Given the description of an element on the screen output the (x, y) to click on. 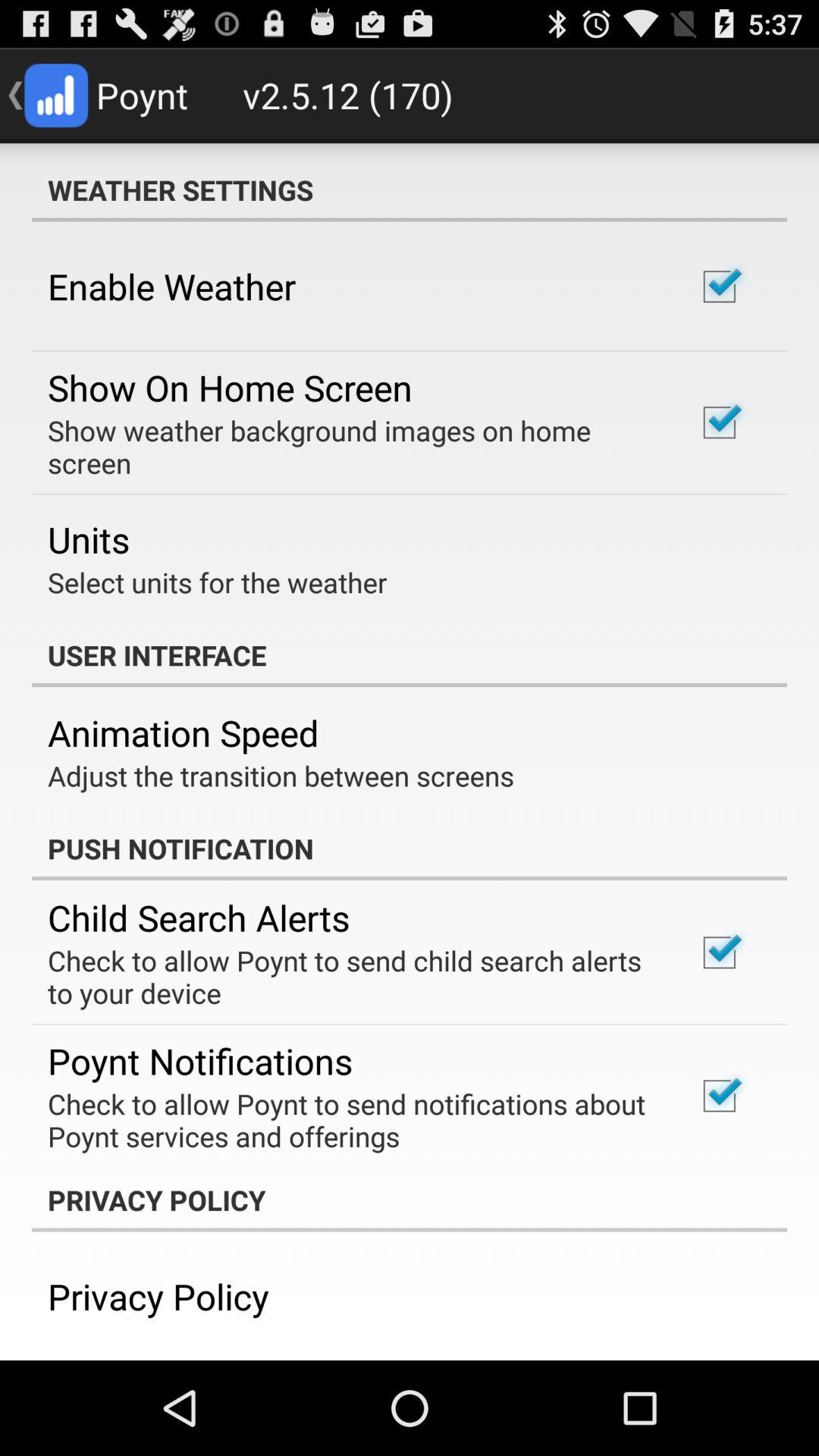
select the icon above the user interface item (217, 582)
